Given the description of an element on the screen output the (x, y) to click on. 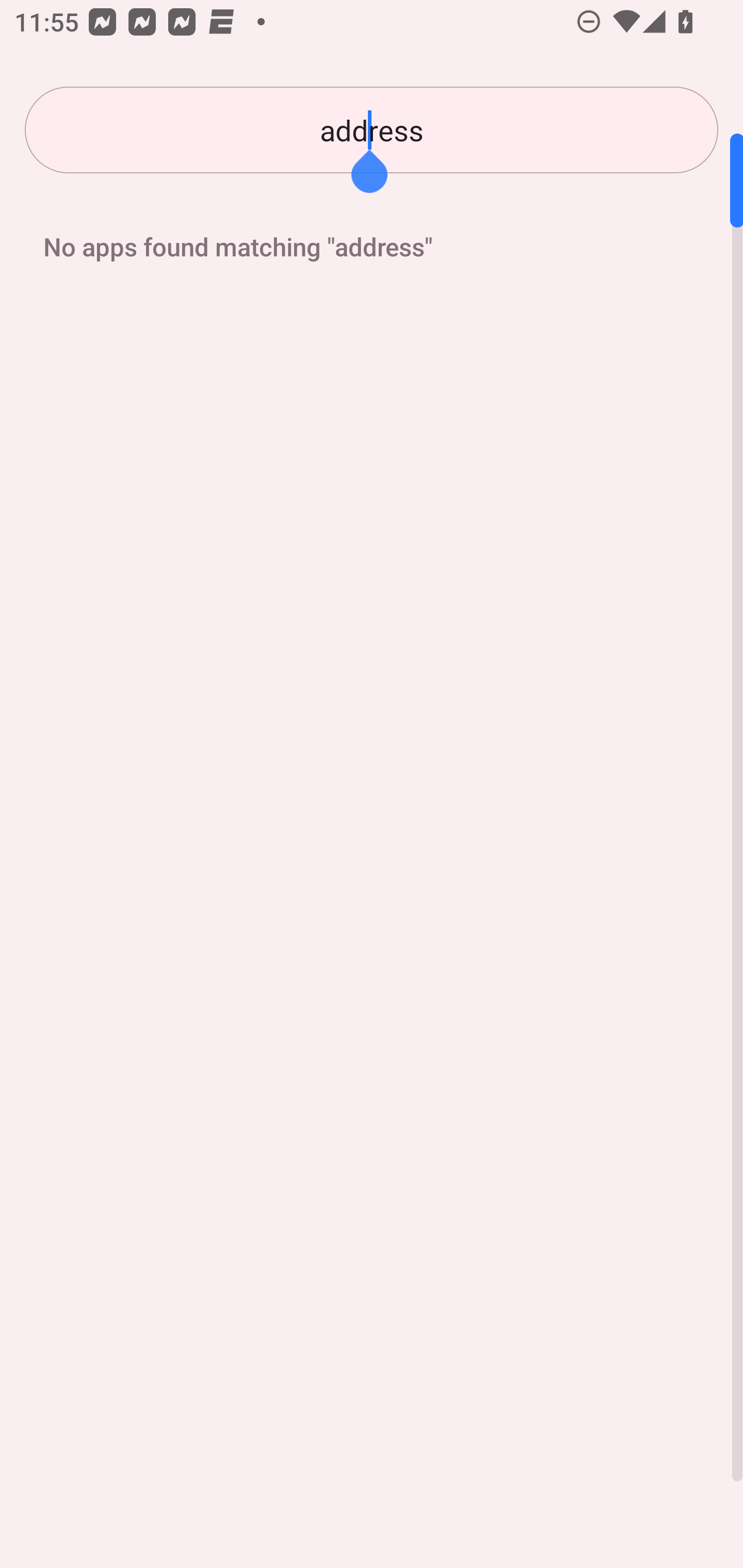
address (371, 130)
